Given the description of an element on the screen output the (x, y) to click on. 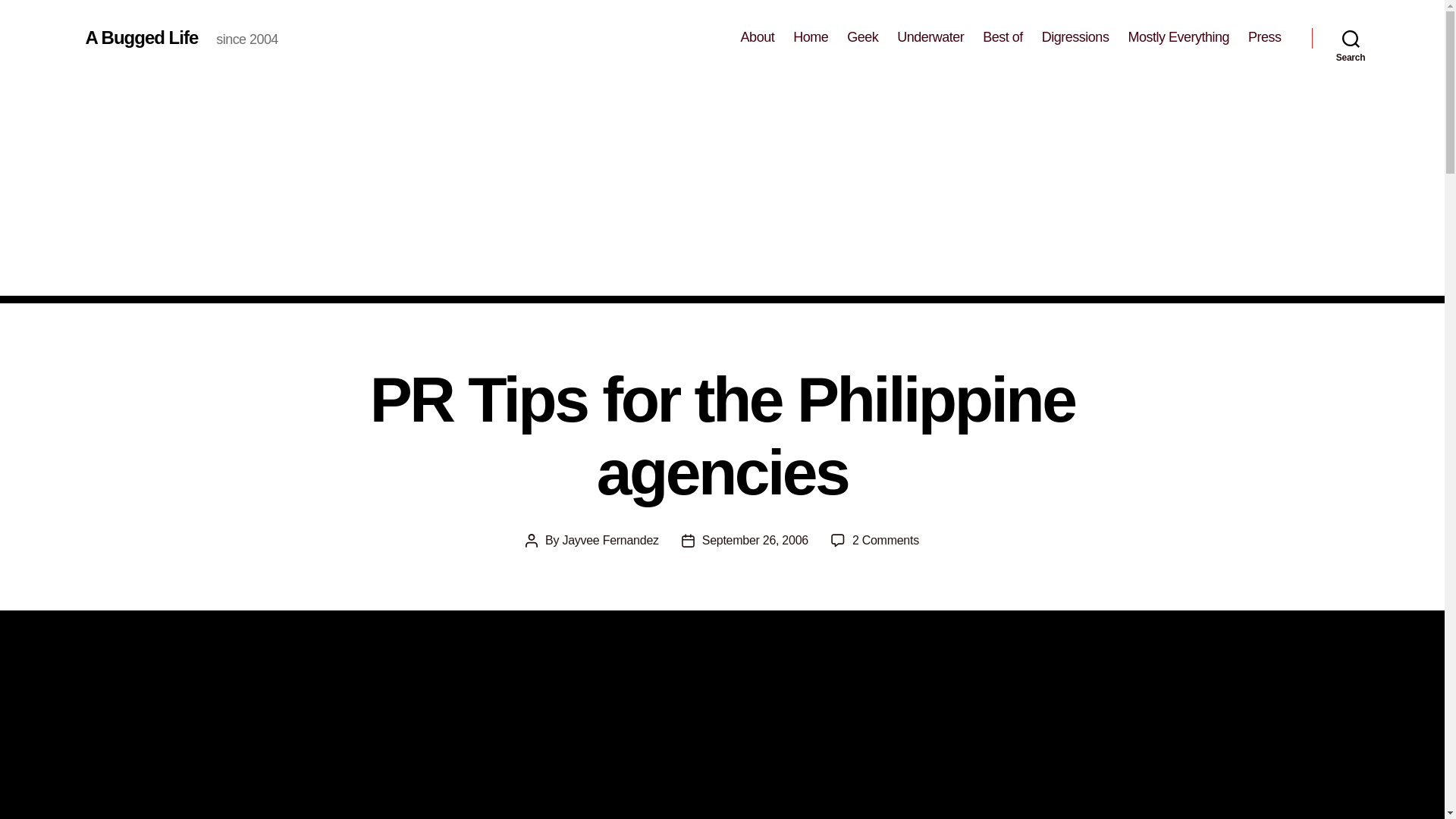
Press (1264, 37)
Digressions (1075, 37)
Jayvee Fernandez (610, 540)
A Bugged Life (141, 37)
Underwater (929, 37)
Home (810, 37)
Best of (1002, 37)
Geek (862, 37)
Search (1350, 37)
